Given the description of an element on the screen output the (x, y) to click on. 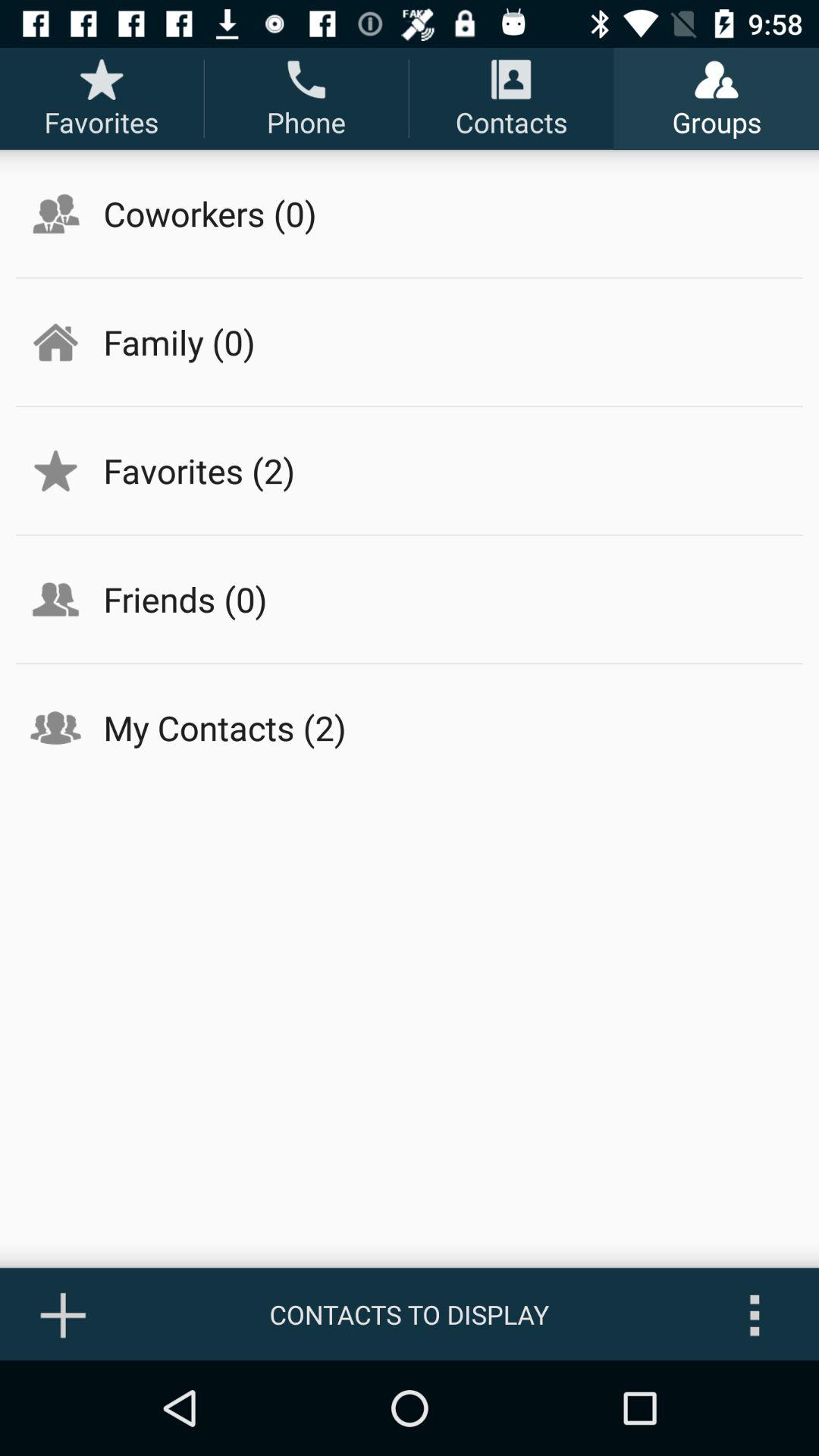
tap the item to the right of contacts to display item (755, 1314)
